Given the description of an element on the screen output the (x, y) to click on. 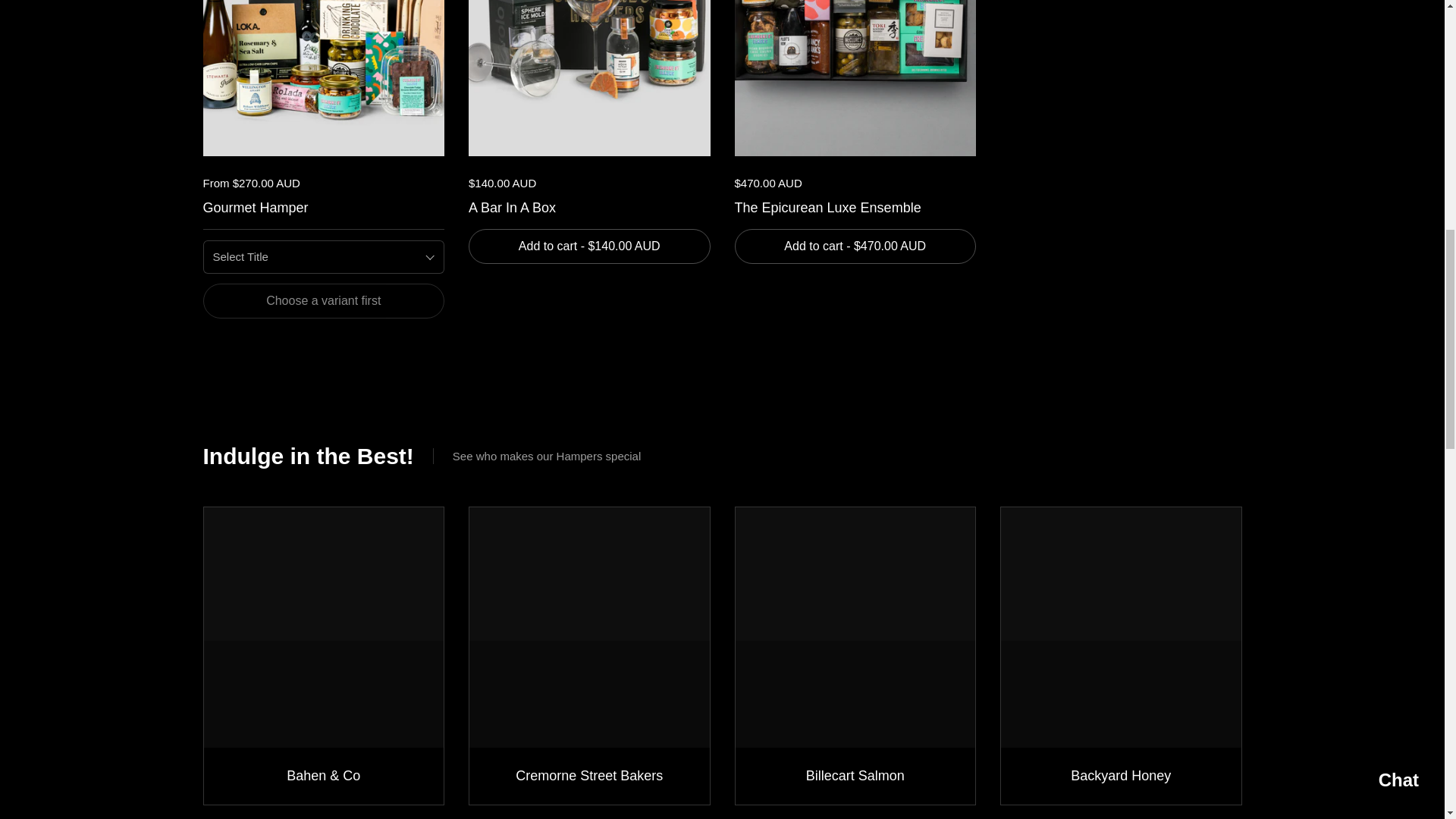
Gourmet Hamper (324, 204)
A Bar In A Box (589, 204)
The Epicurean Luxe Ensemble (854, 204)
